Given the description of an element on the screen output the (x, y) to click on. 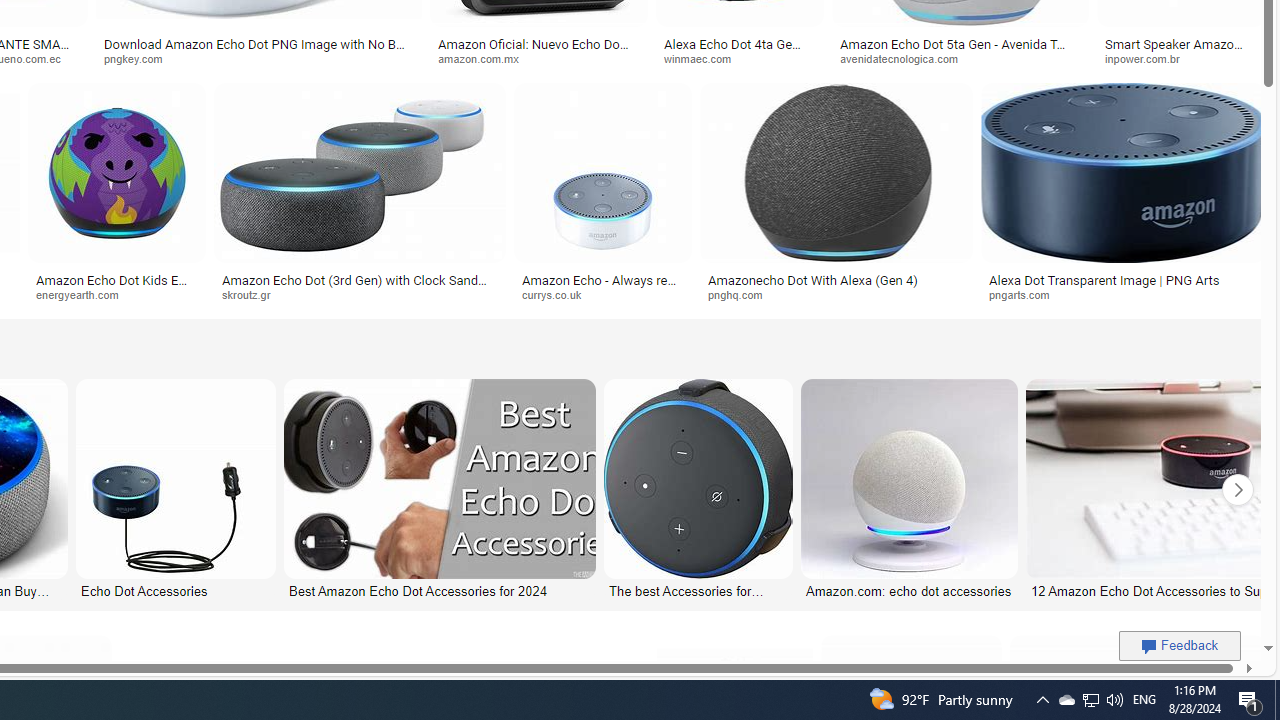
Amazon Echo - Always ready, connected and fast. Just ask. (603, 286)
pnghq.com (741, 294)
Image result for Amazon Echo Dot PNG (1122, 172)
